Given the description of an element on the screen output the (x, y) to click on. 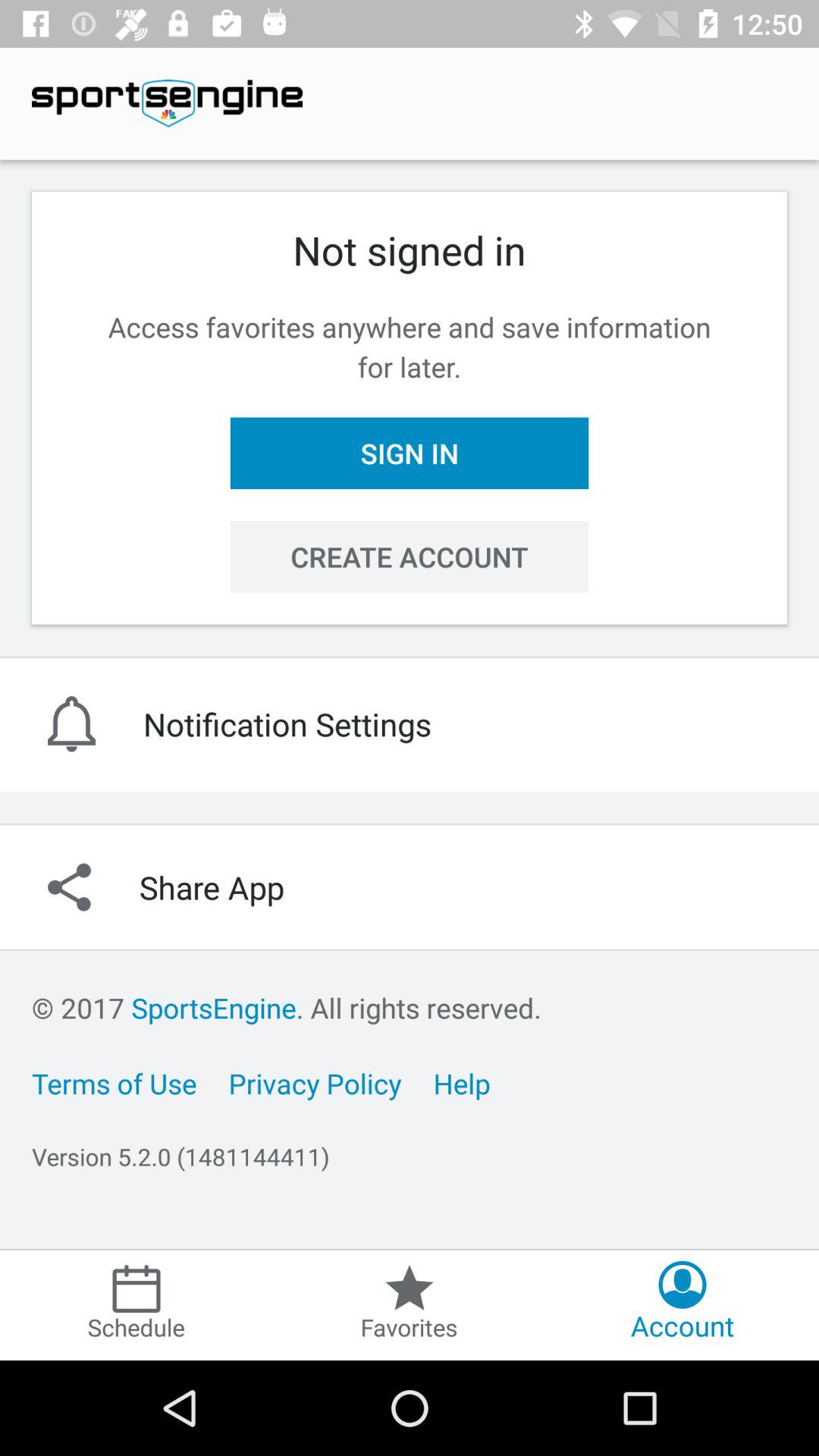
turn off the notification settings (409, 723)
